Given the description of an element on the screen output the (x, y) to click on. 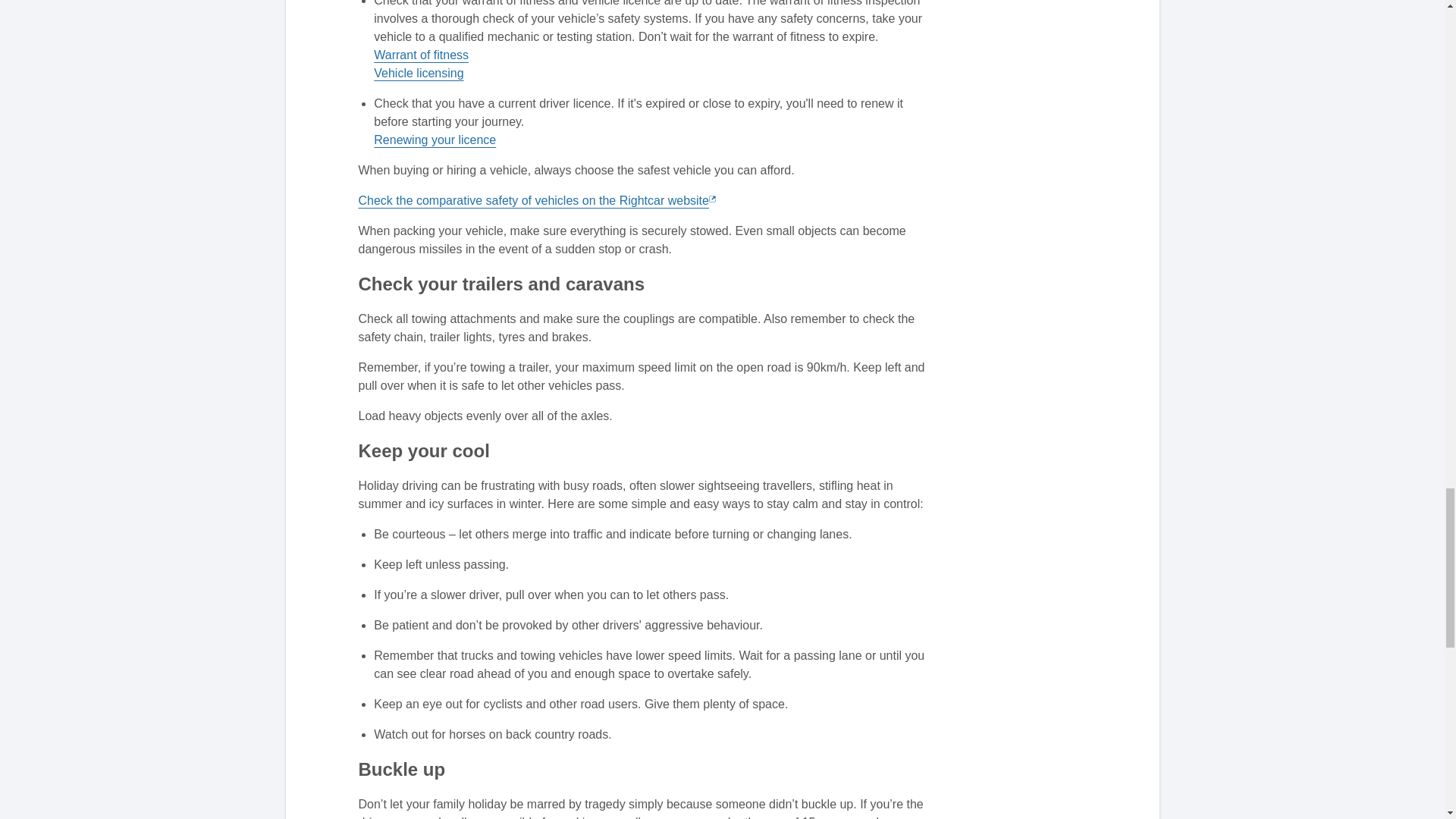
Getting a WoF (421, 54)
Licensing your vehicle (418, 72)
Renewing your licence (435, 139)
